Given the description of an element on the screen output the (x, y) to click on. 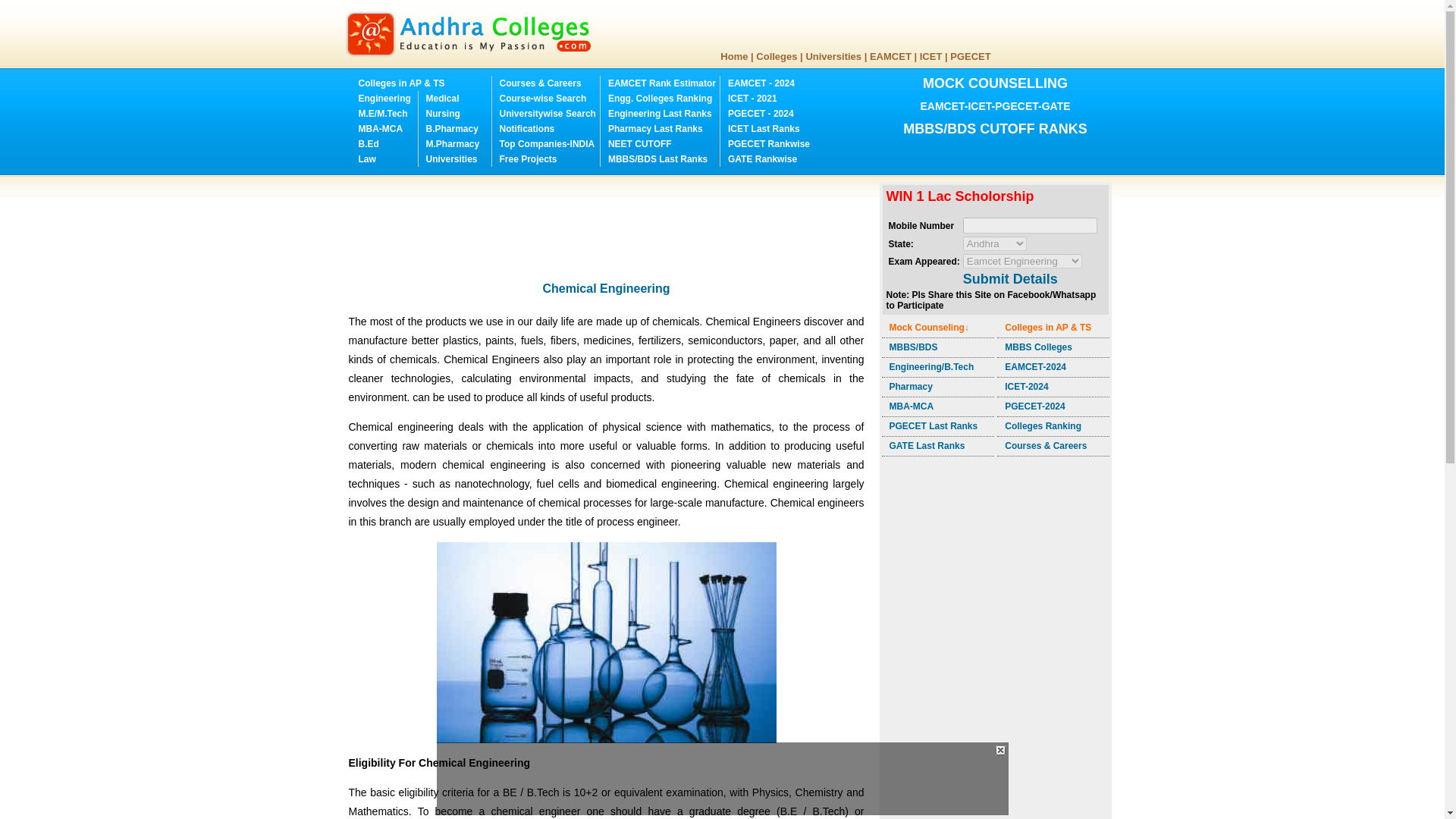
PGECET Rankwise (768, 143)
PGECET - 2024 (760, 113)
B.Pharmacy (452, 128)
Eamcet Pharmacy Rankwise Colleges Search seat allotment (655, 128)
ICET Last Ranks (763, 128)
Medical (443, 98)
ICET 2024 Notification Results Ranks Mock Counseling (752, 98)
Law (366, 158)
Free Projects (527, 158)
ICET - 2021 (752, 98)
Universities (451, 158)
Universities (833, 56)
MBA-MCA (380, 128)
Top Companies-INDIA (546, 143)
PGECET 2024 Notification Results Ranks Mock Counseling (760, 113)
